Given the description of an element on the screen output the (x, y) to click on. 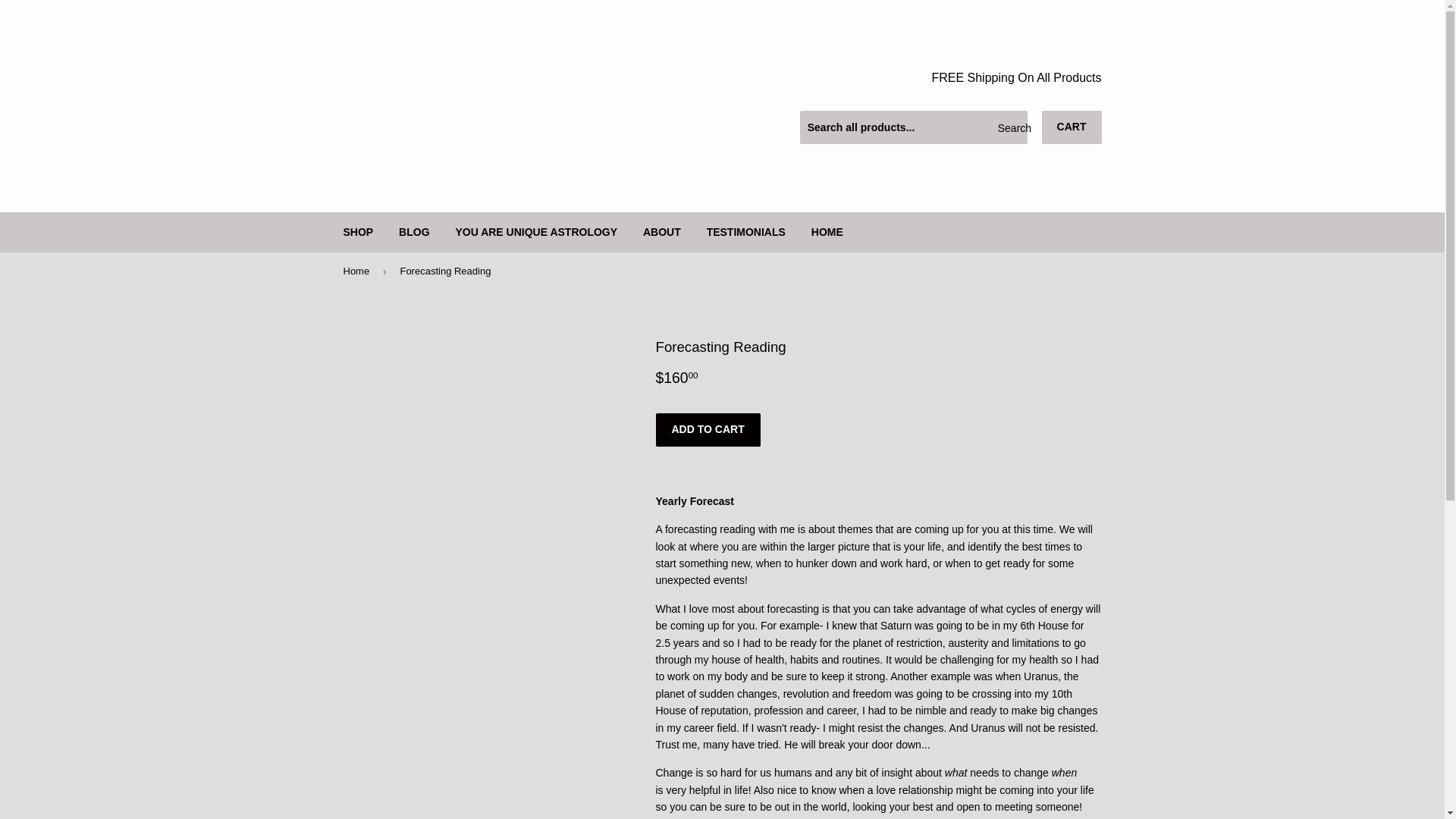
Search (1009, 128)
HOME (826, 231)
TESTIMONIALS (745, 231)
CART (1072, 127)
YOU ARE UNIQUE ASTROLOGY (536, 231)
SHOP (358, 231)
ADD TO CART (707, 429)
BLOG (414, 231)
ABOUT (662, 231)
